Given the description of an element on the screen output the (x, y) to click on. 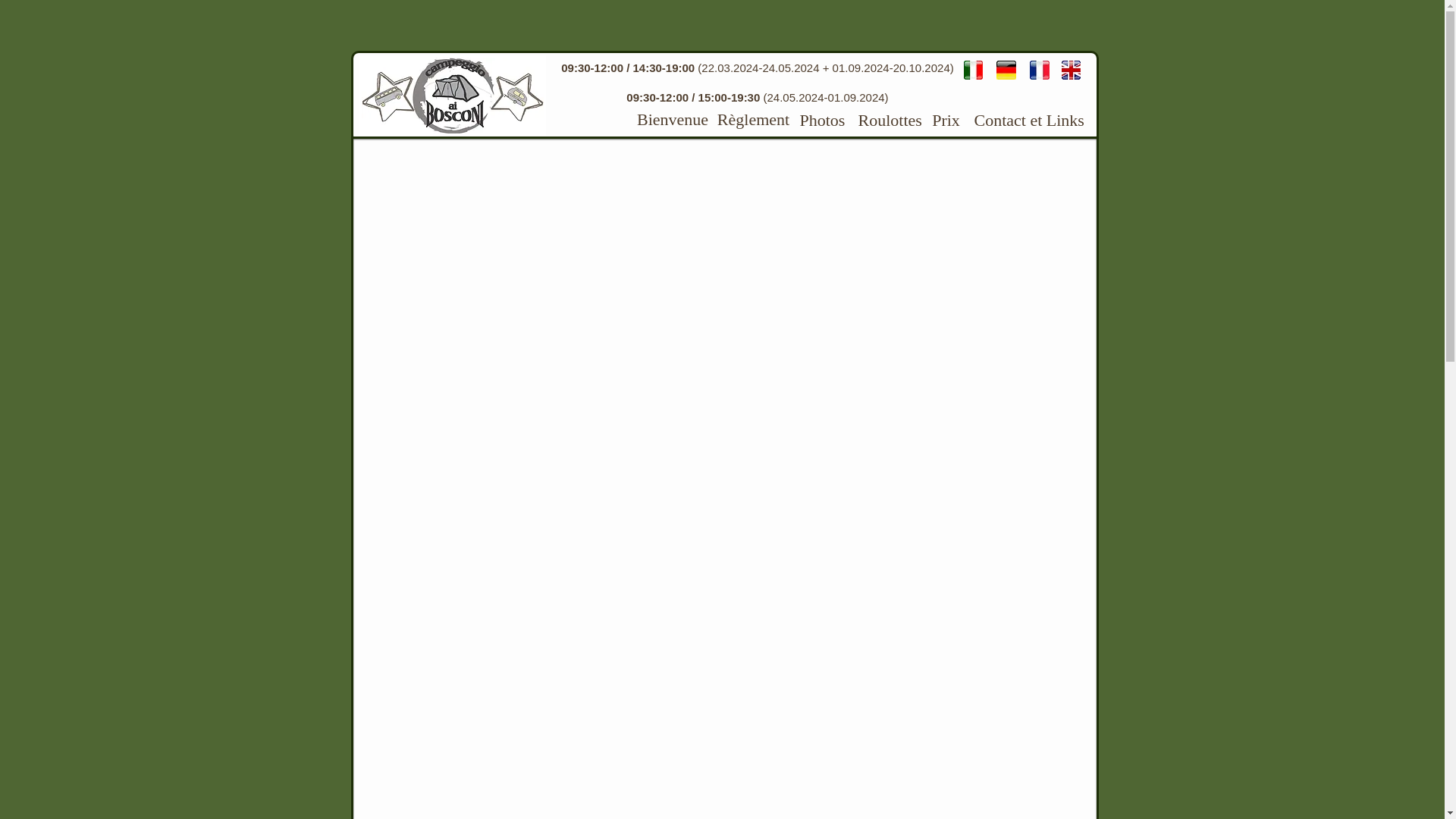
Prix Element type: text (946, 120)
Photos Element type: text (821, 120)
Bienvenue Element type: text (673, 119)
Roulottes Element type: text (890, 120)
Contact et Links Element type: text (1028, 120)
